Given the description of an element on the screen output the (x, y) to click on. 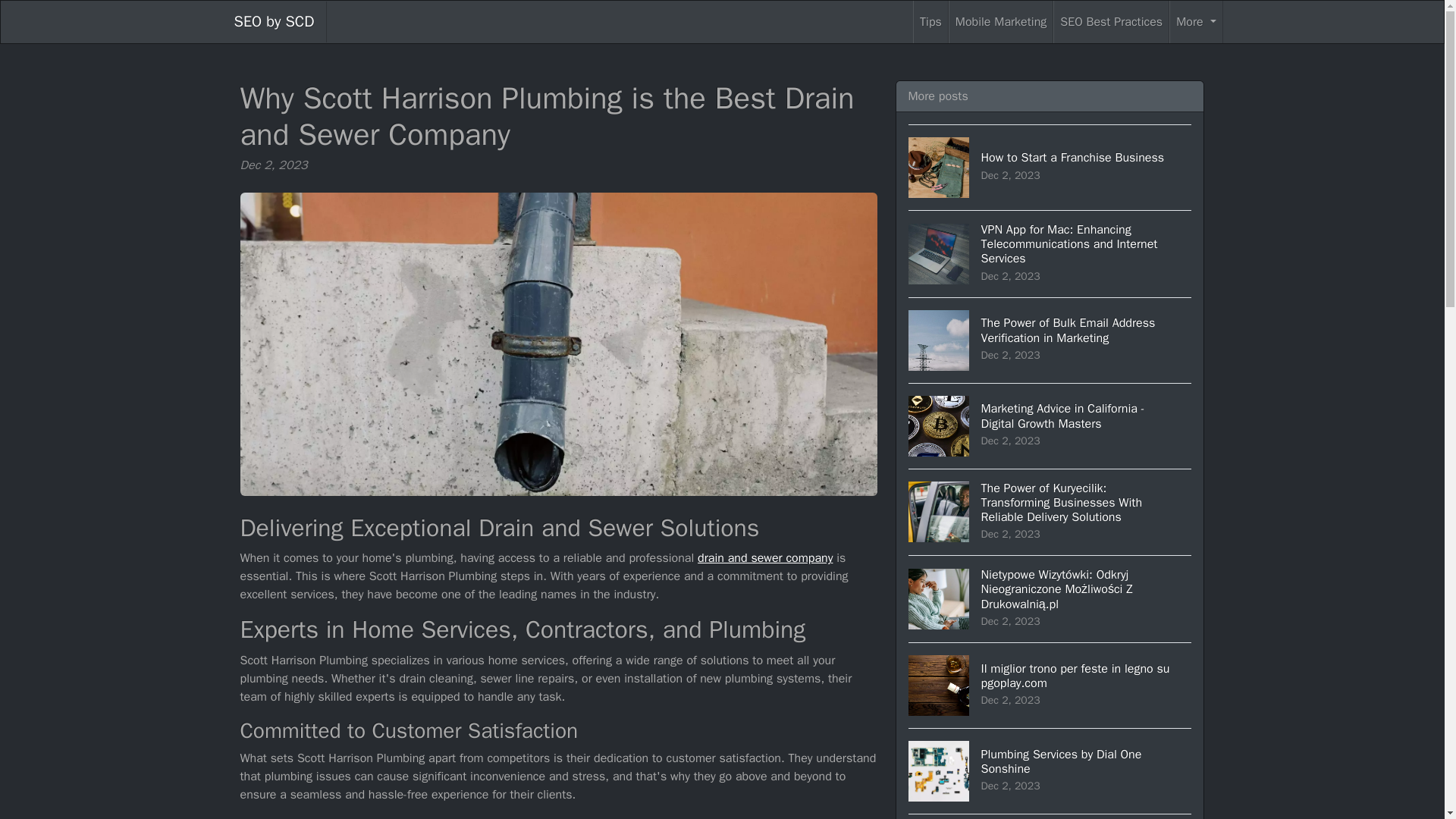
Mobile Marketing (1000, 21)
drain and sewer company (764, 557)
SEO by SCD (273, 21)
More (1196, 21)
SEO Best Practices (1110, 21)
